Given the description of an element on the screen output the (x, y) to click on. 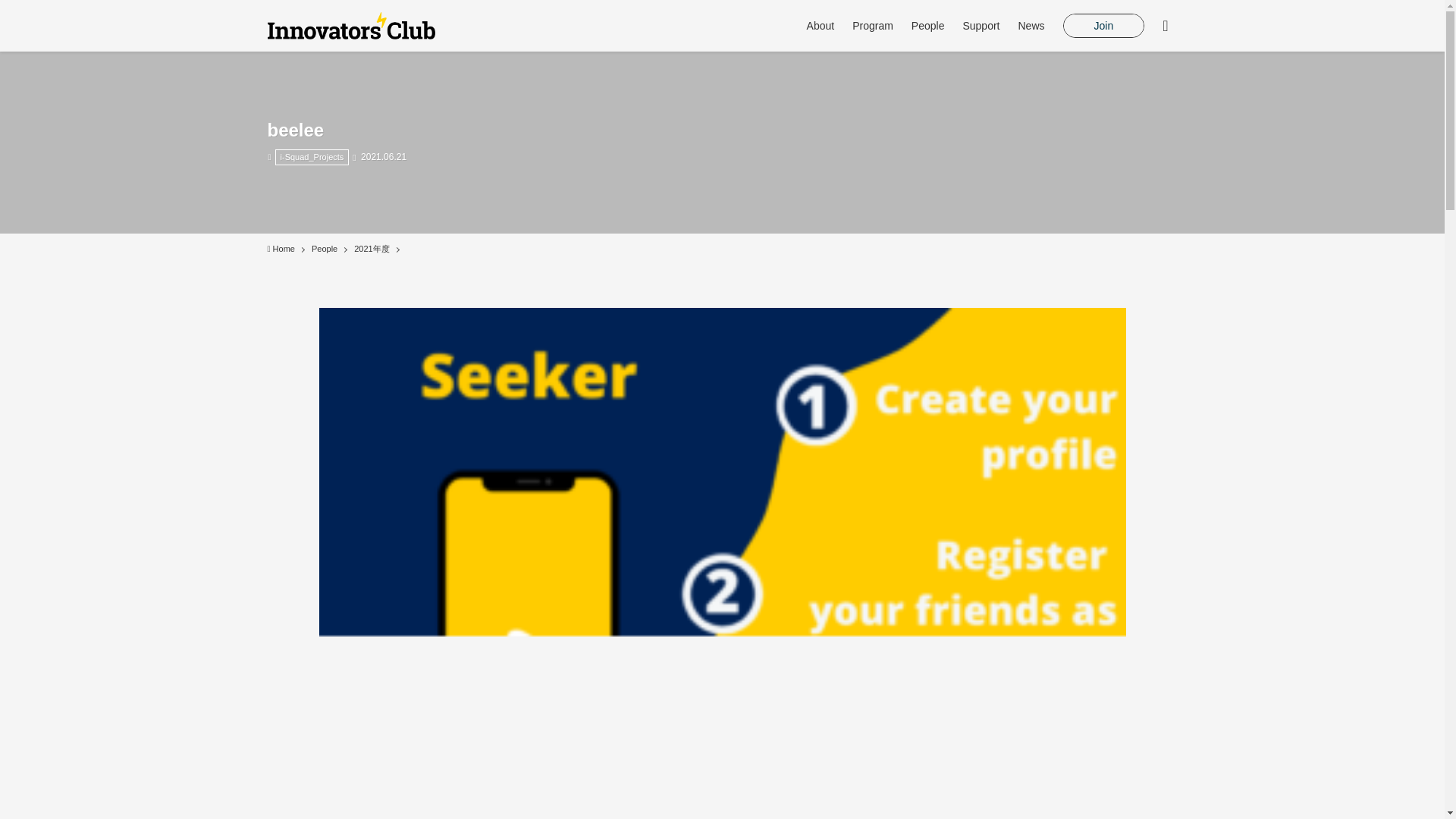
Program (872, 25)
Innovators' Club (349, 25)
About (820, 25)
Support (981, 25)
People (927, 25)
Join (1104, 25)
Home (280, 249)
People (324, 249)
